Given the description of an element on the screen output the (x, y) to click on. 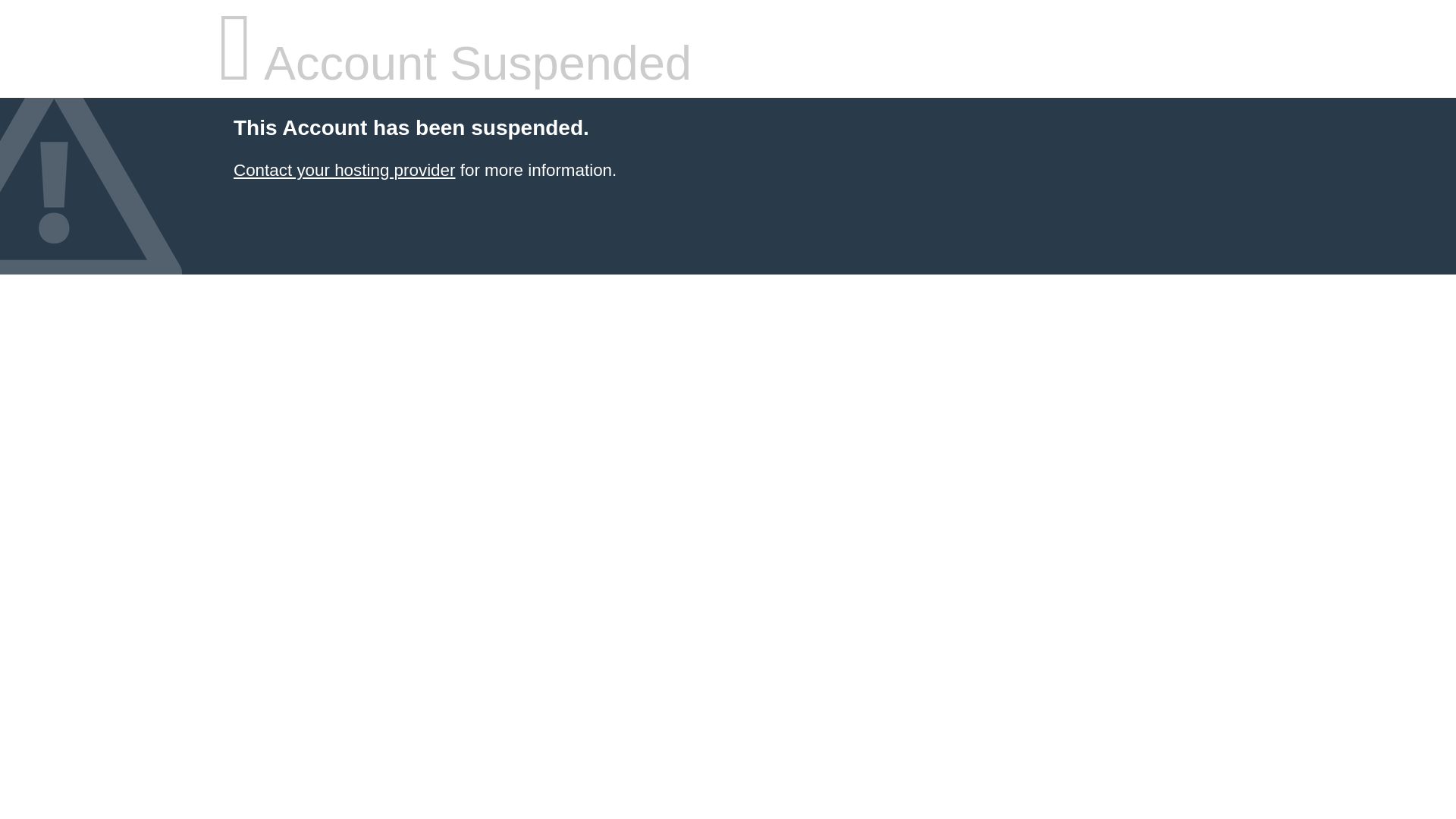
Contact your hosting provider (343, 169)
